Given the description of an element on the screen output the (x, y) to click on. 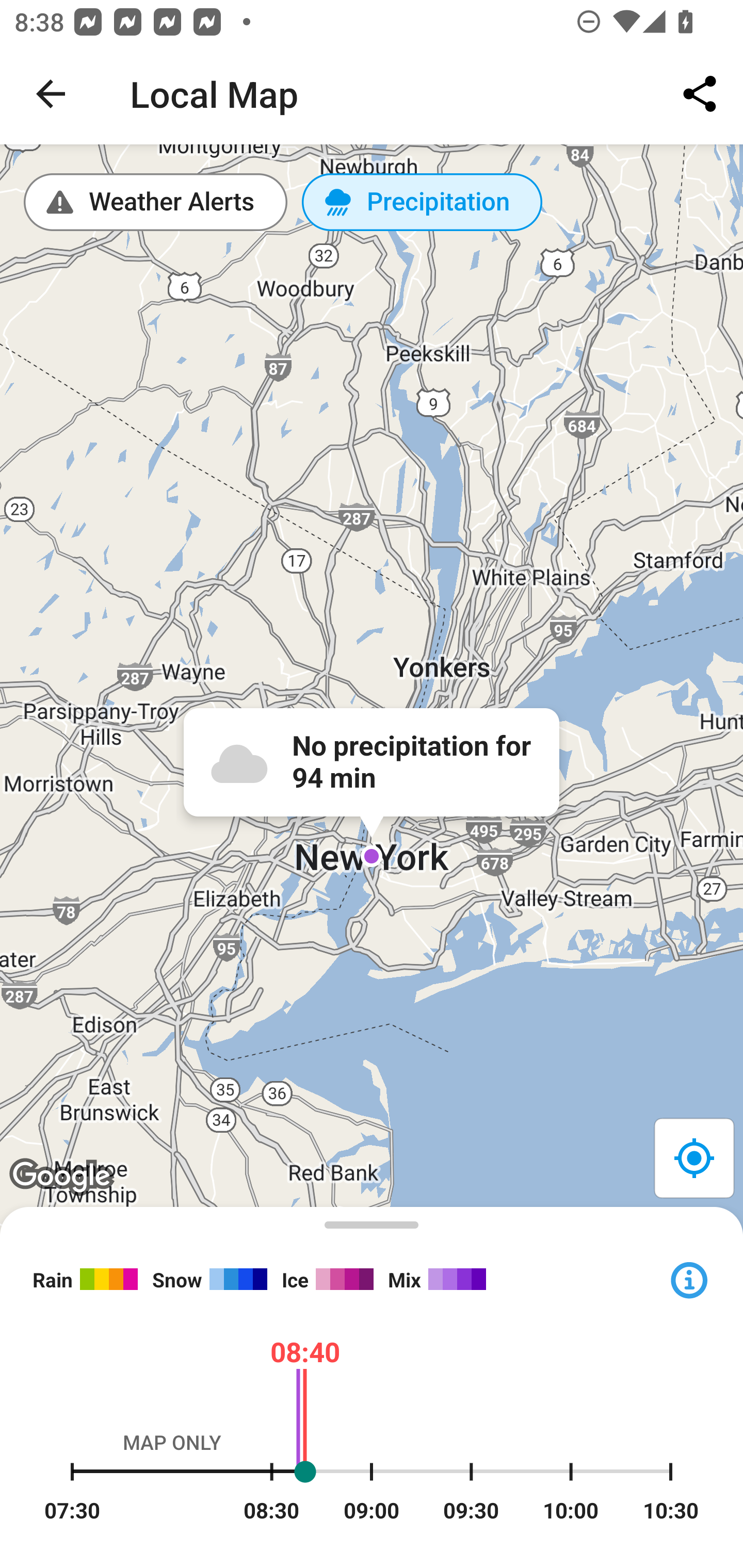
Navigate up (50, 93)
Share (699, 93)
Weather Alerts (155, 202)
Precipitation (421, 202)
My location button (693, 1157)
Map legend info. (688, 1278)
